Given the description of an element on the screen output the (x, y) to click on. 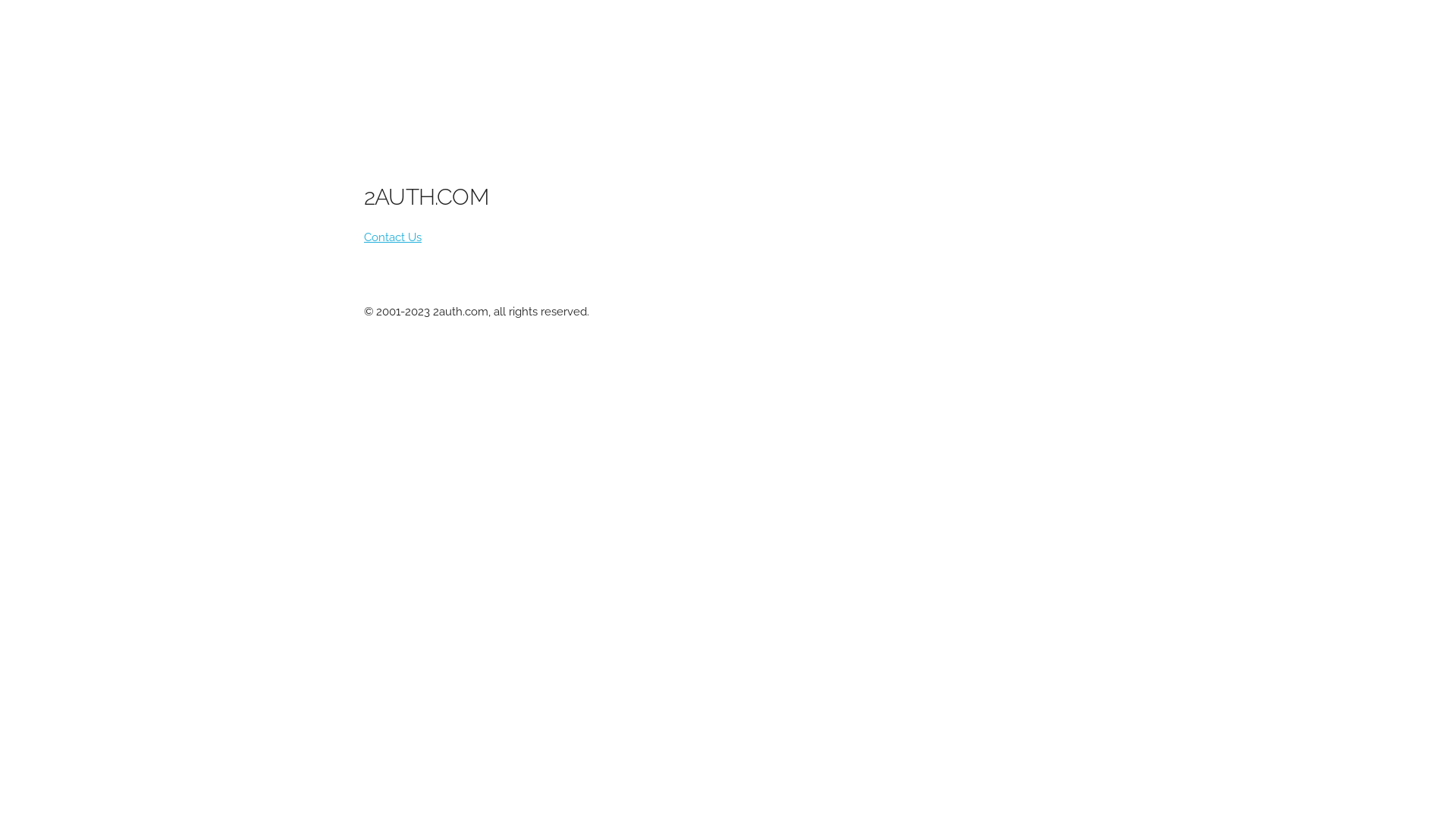
Contact Us Element type: text (392, 237)
